Given the description of an element on the screen output the (x, y) to click on. 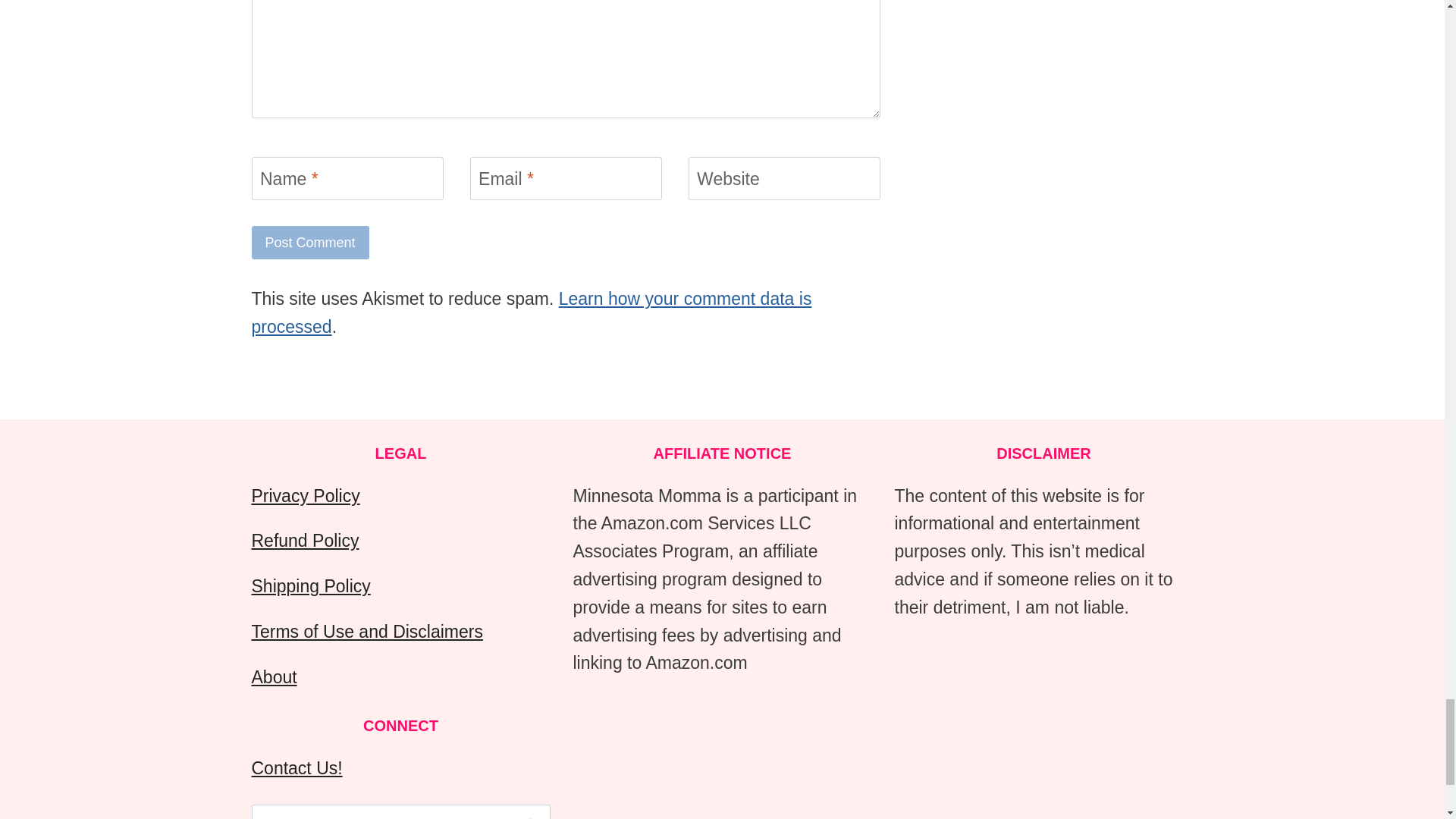
Post Comment (310, 242)
Search (531, 811)
Search (531, 811)
